Given the description of an element on the screen output the (x, y) to click on. 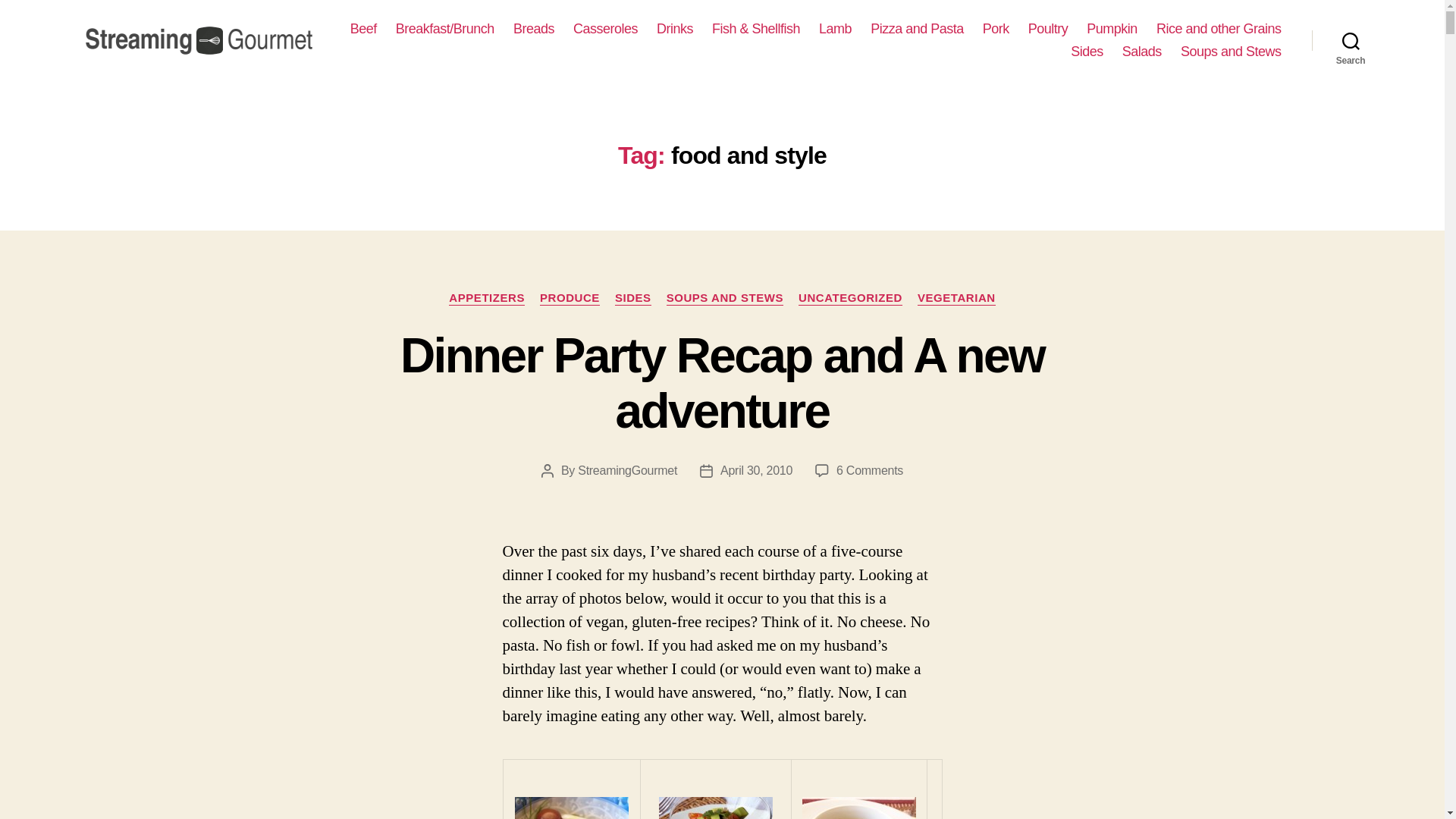
olives2 (571, 807)
Pork (995, 29)
Poultry (1047, 29)
Search (1350, 40)
Beef (363, 29)
Pizza and Pasta (916, 29)
Soups and Stews (1230, 52)
P4205190 (858, 807)
Drinks (674, 29)
Sides (1086, 52)
APPETIZERS (486, 298)
Pumpkin (1111, 29)
Breads (533, 29)
PRODUCE (569, 298)
P4115047 (716, 807)
